Given the description of an element on the screen output the (x, y) to click on. 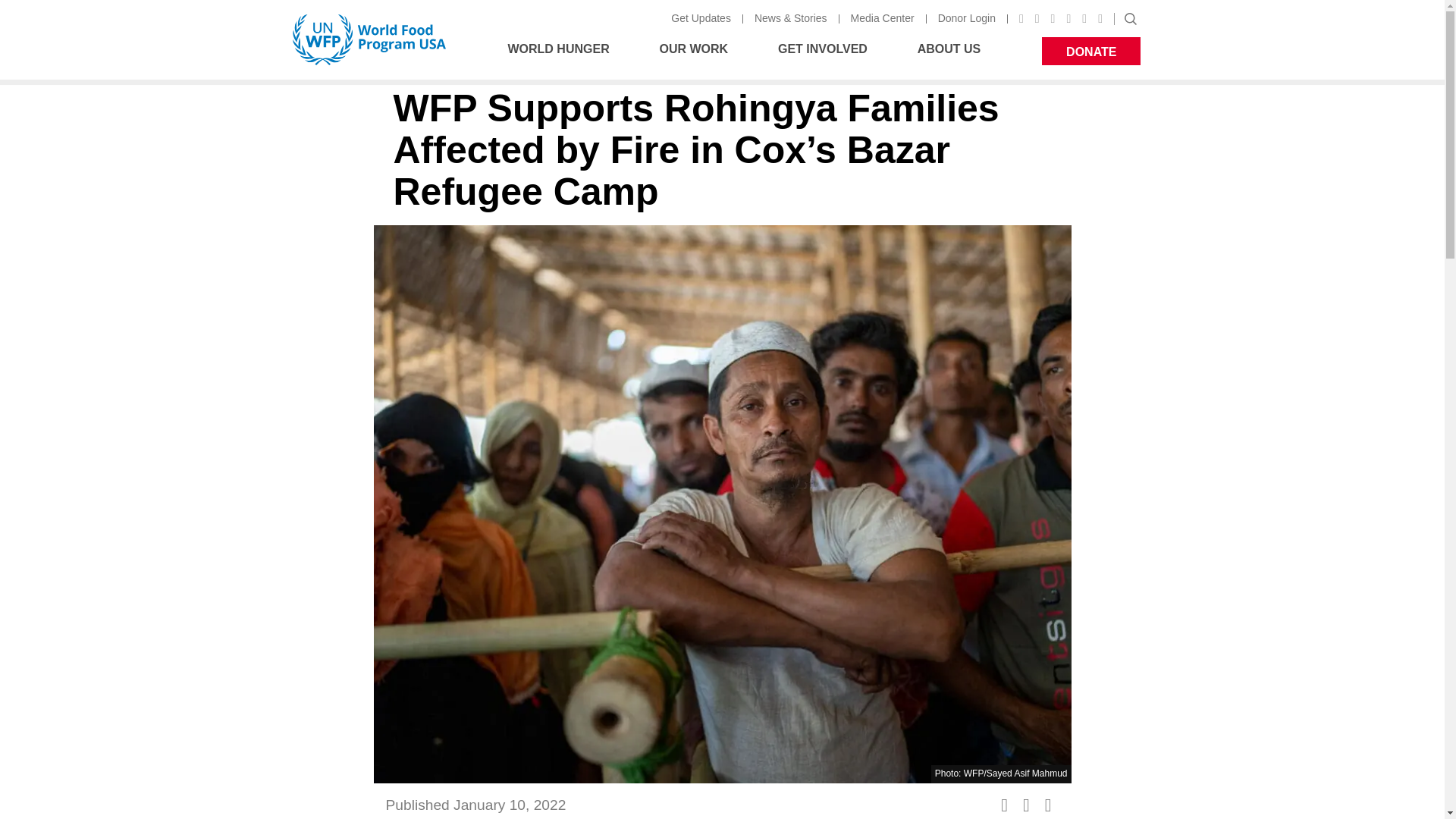
World Hunger (697, 50)
Go to WFPUSA homepage (826, 50)
